Given the description of an element on the screen output the (x, y) to click on. 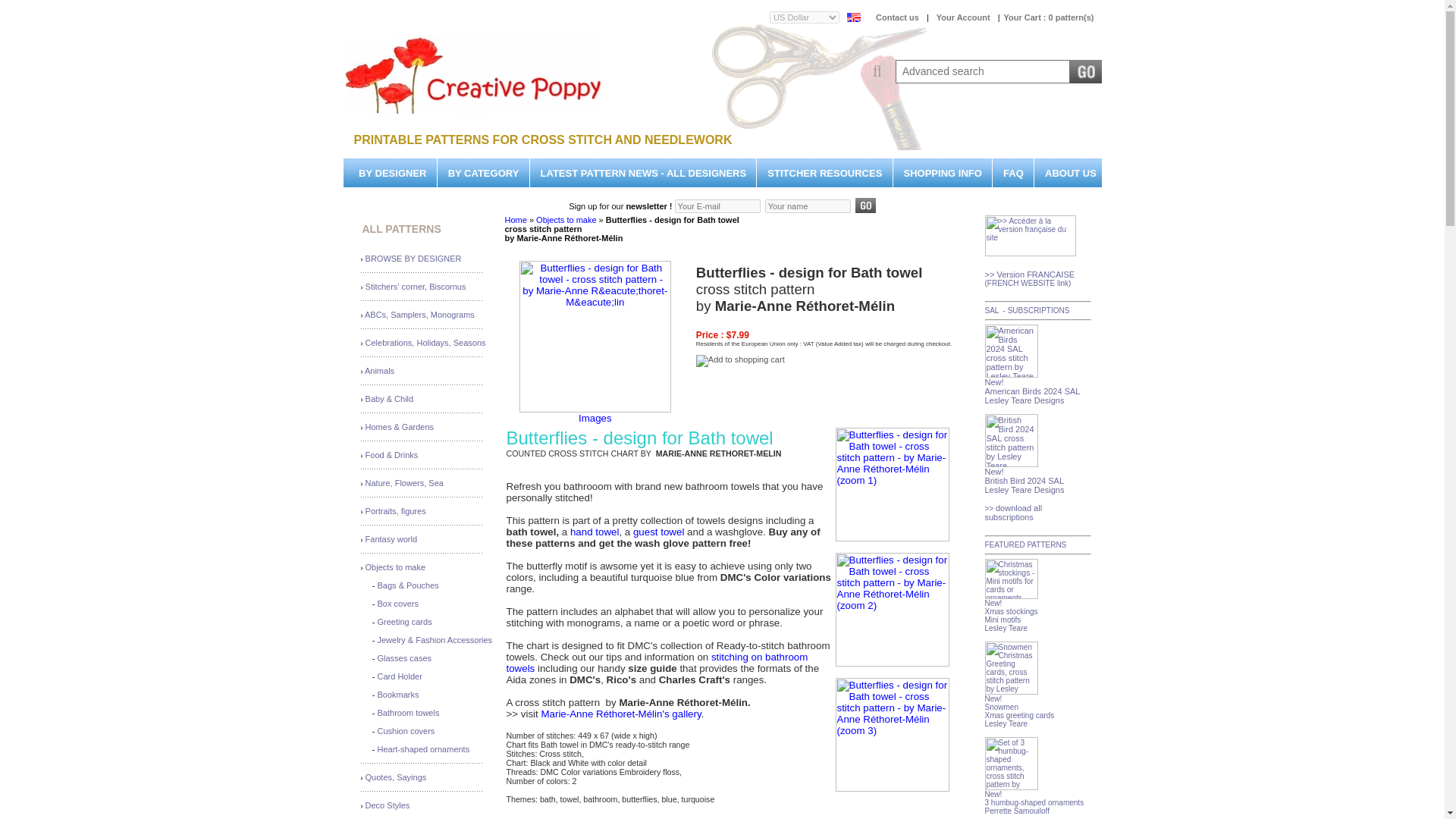
Animals (379, 370)
Quotes, Sayings (395, 777)
BY CATEGORY (483, 172)
SHOPPING INFO (942, 172)
Nature, Flowers, Sea (404, 482)
LATEST PATTERN NEWS - ALL DESIGNERS (643, 172)
Objects to make (395, 566)
Portraits, figures (395, 510)
logo-Creative Poppy Patterns (474, 75)
Contact us (896, 17)
BY DESIGNER (392, 172)
Cushion covers (406, 730)
BROWSE BY DESIGNER (413, 257)
Home (516, 219)
FAQ (1013, 172)
